Given the description of an element on the screen output the (x, y) to click on. 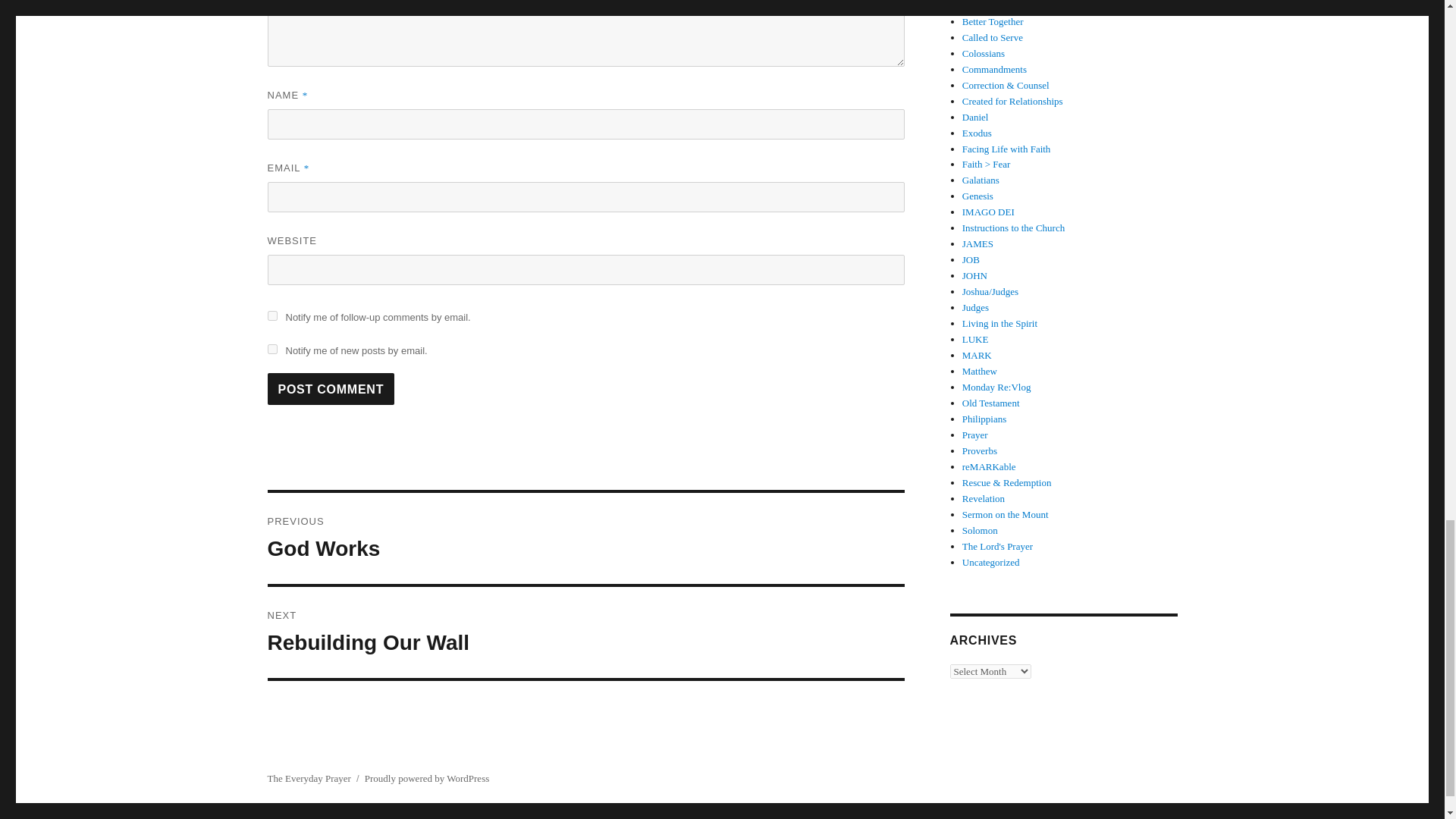
subscribe (271, 316)
subscribe (271, 348)
Post Comment (585, 538)
Believe in Jesus and Live (330, 388)
Post Comment (585, 632)
Better Together (1012, 5)
Colossians (330, 388)
Called to Serve (992, 21)
